Given the description of an element on the screen output the (x, y) to click on. 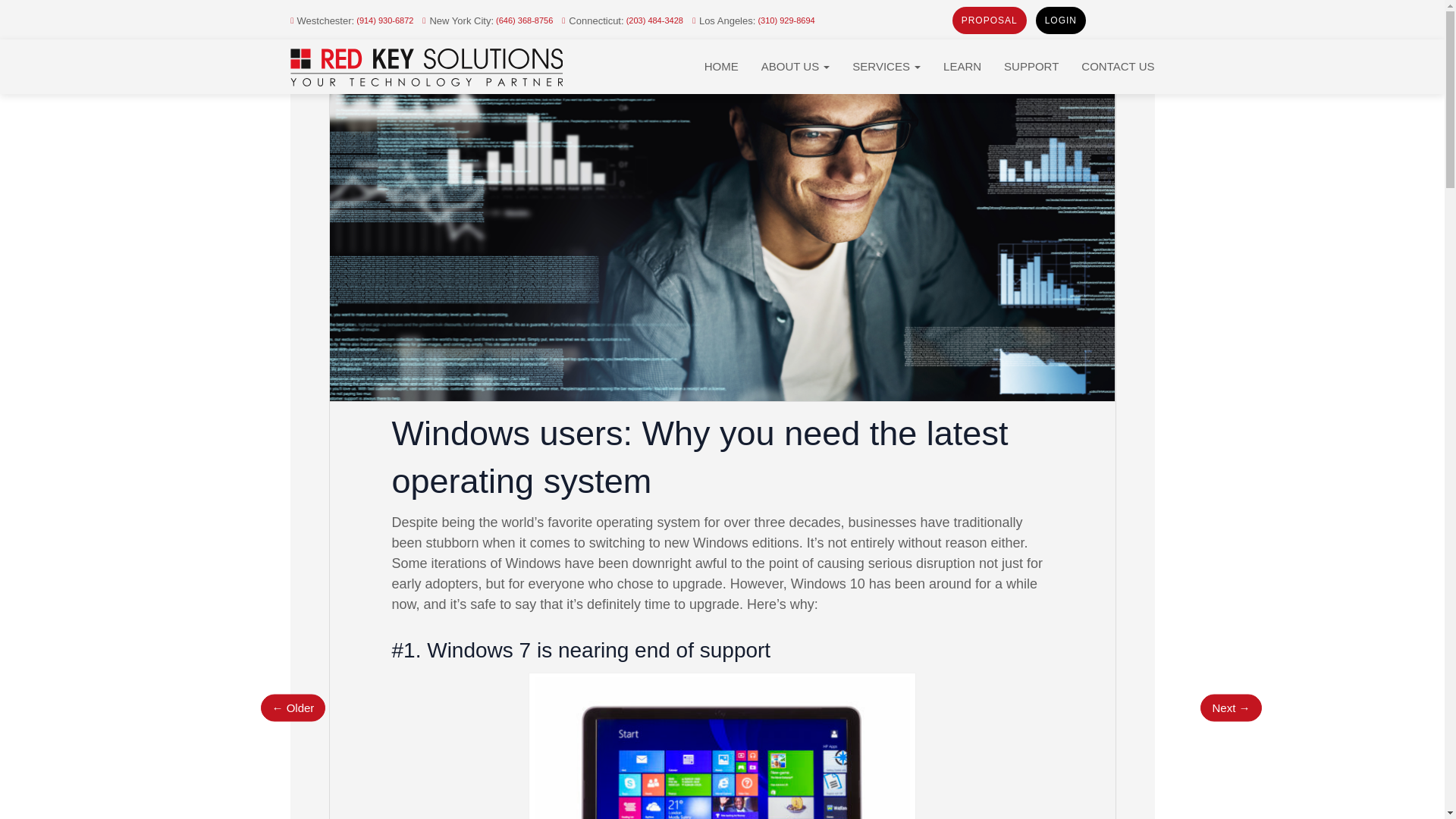
ABOUT US (795, 66)
PROPOSAL (989, 20)
CONTACT US (1117, 66)
LOGIN (1060, 20)
SERVICES (885, 66)
SUPPORT (1031, 66)
